Given the description of an element on the screen output the (x, y) to click on. 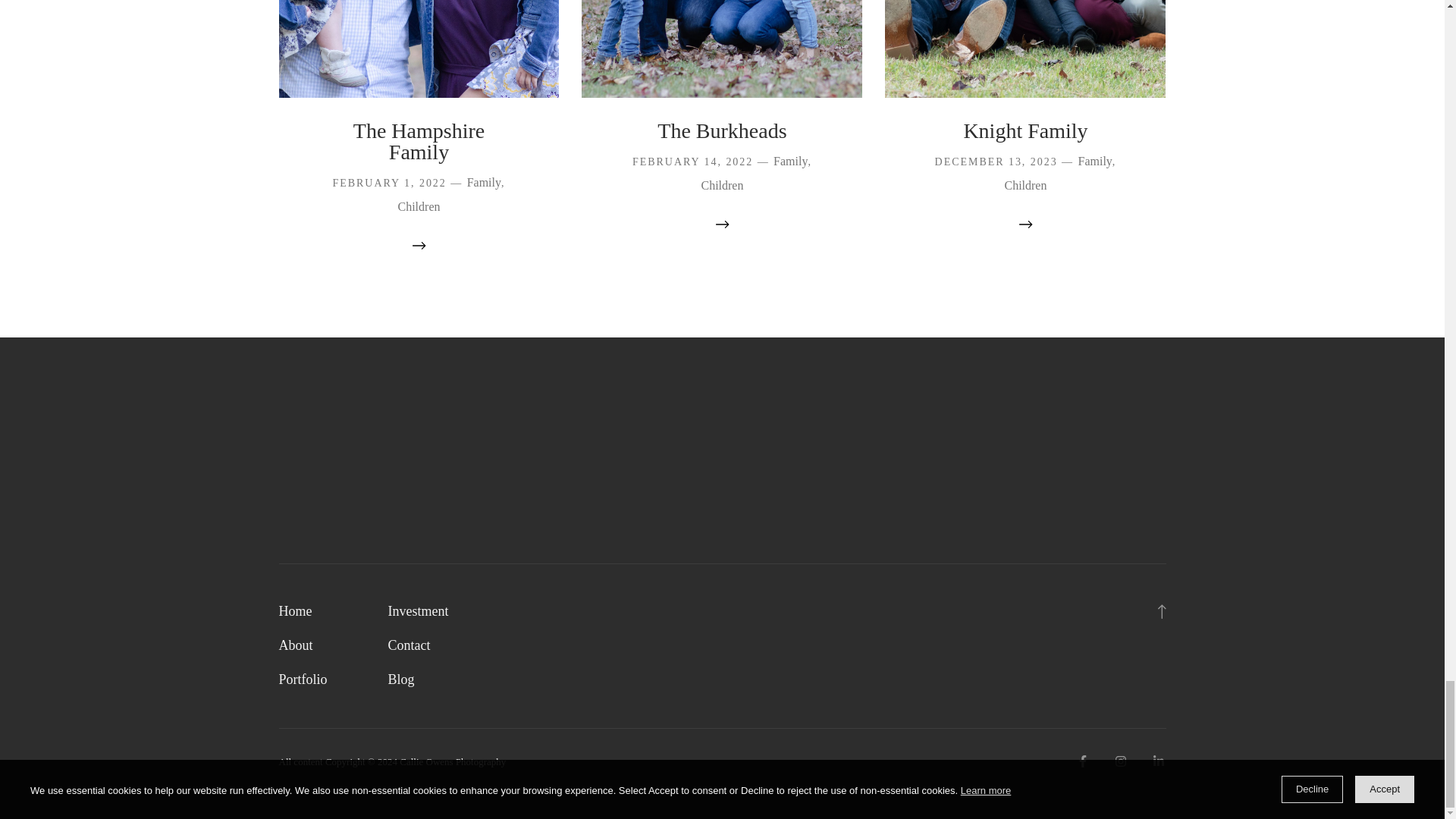
Children (721, 185)
Family (790, 160)
Family (483, 182)
Children (418, 205)
